Given the description of an element on the screen output the (x, y) to click on. 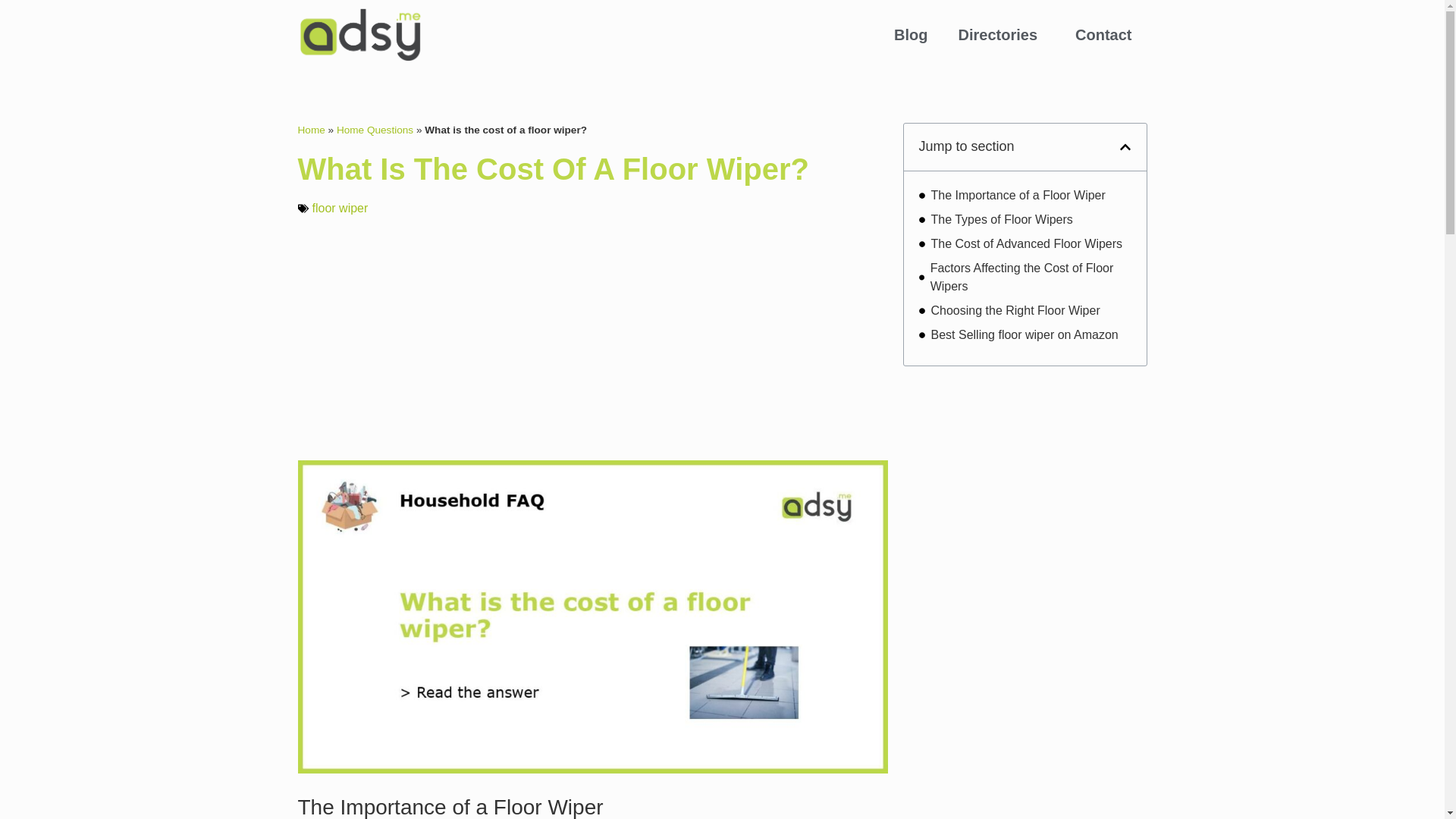
Blog (910, 34)
Advertisement (1024, 475)
Advertisement (591, 338)
Contact (1103, 34)
Advertisement (1024, 702)
Directories (1002, 34)
